Given the description of an element on the screen output the (x, y) to click on. 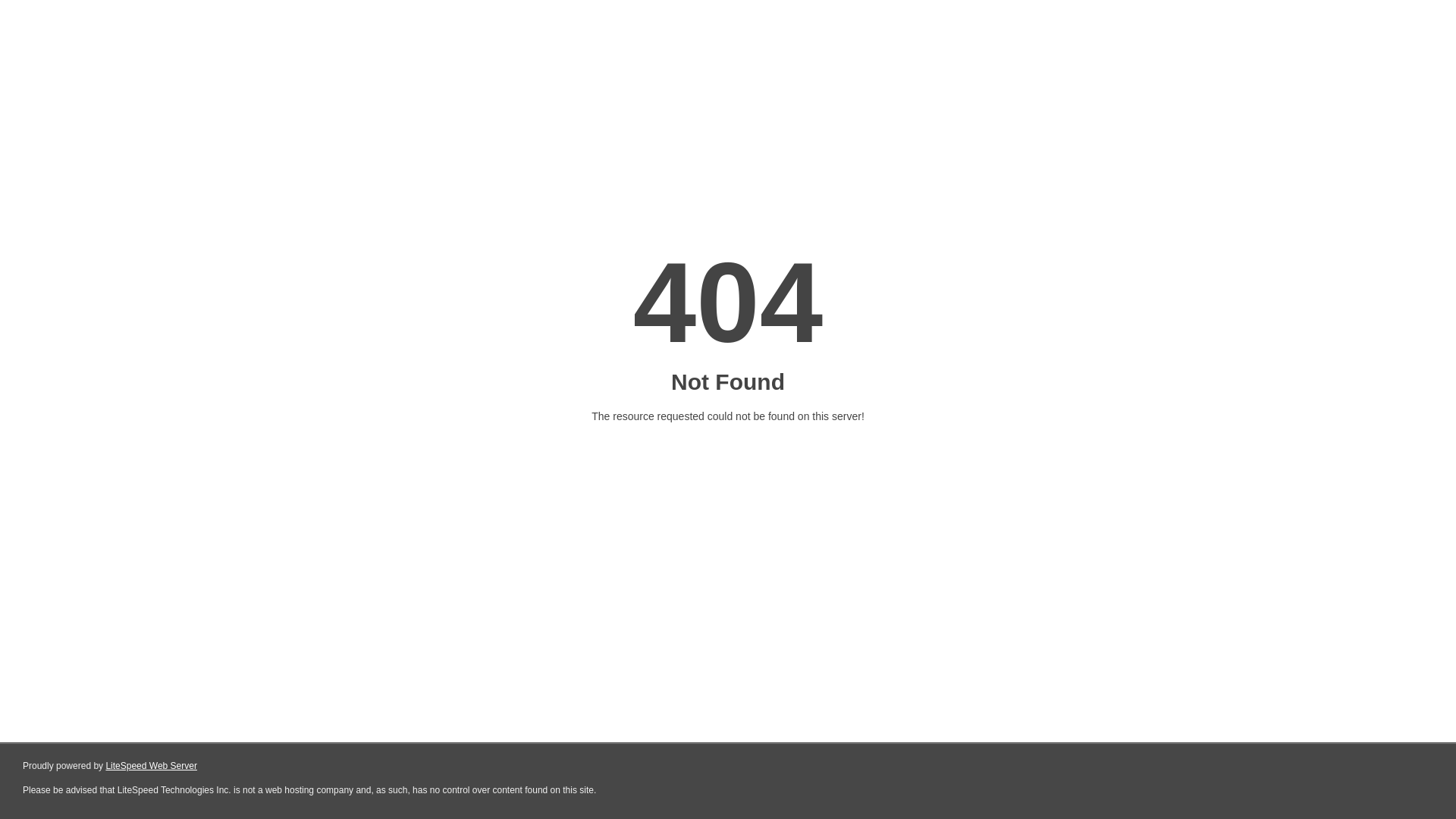
LiteSpeed Web Server Element type: text (151, 765)
